Given the description of an element on the screen output the (x, y) to click on. 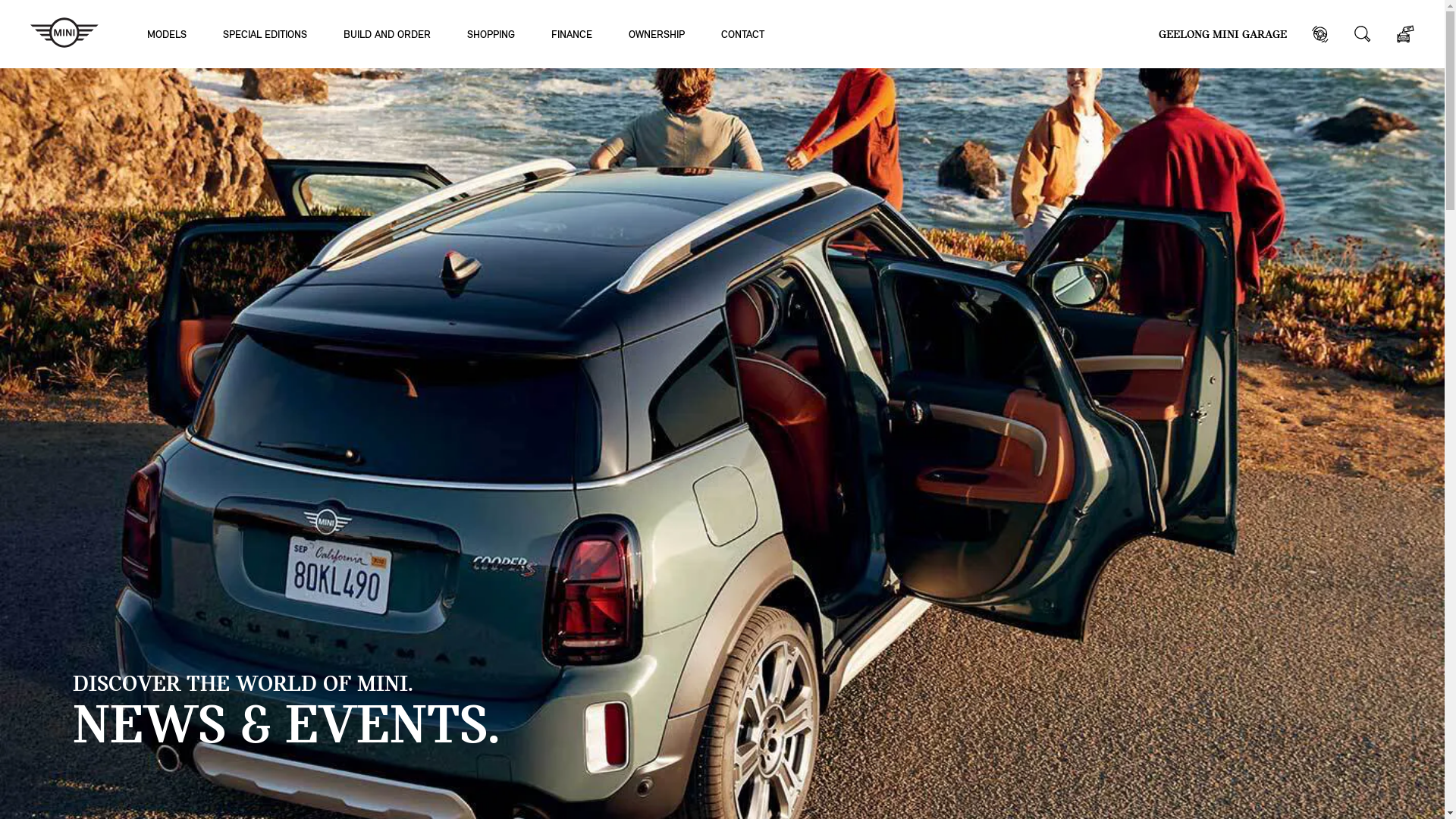
BUILD AND ORDER Element type: text (386, 33)
